Given the description of an element on the screen output the (x, y) to click on. 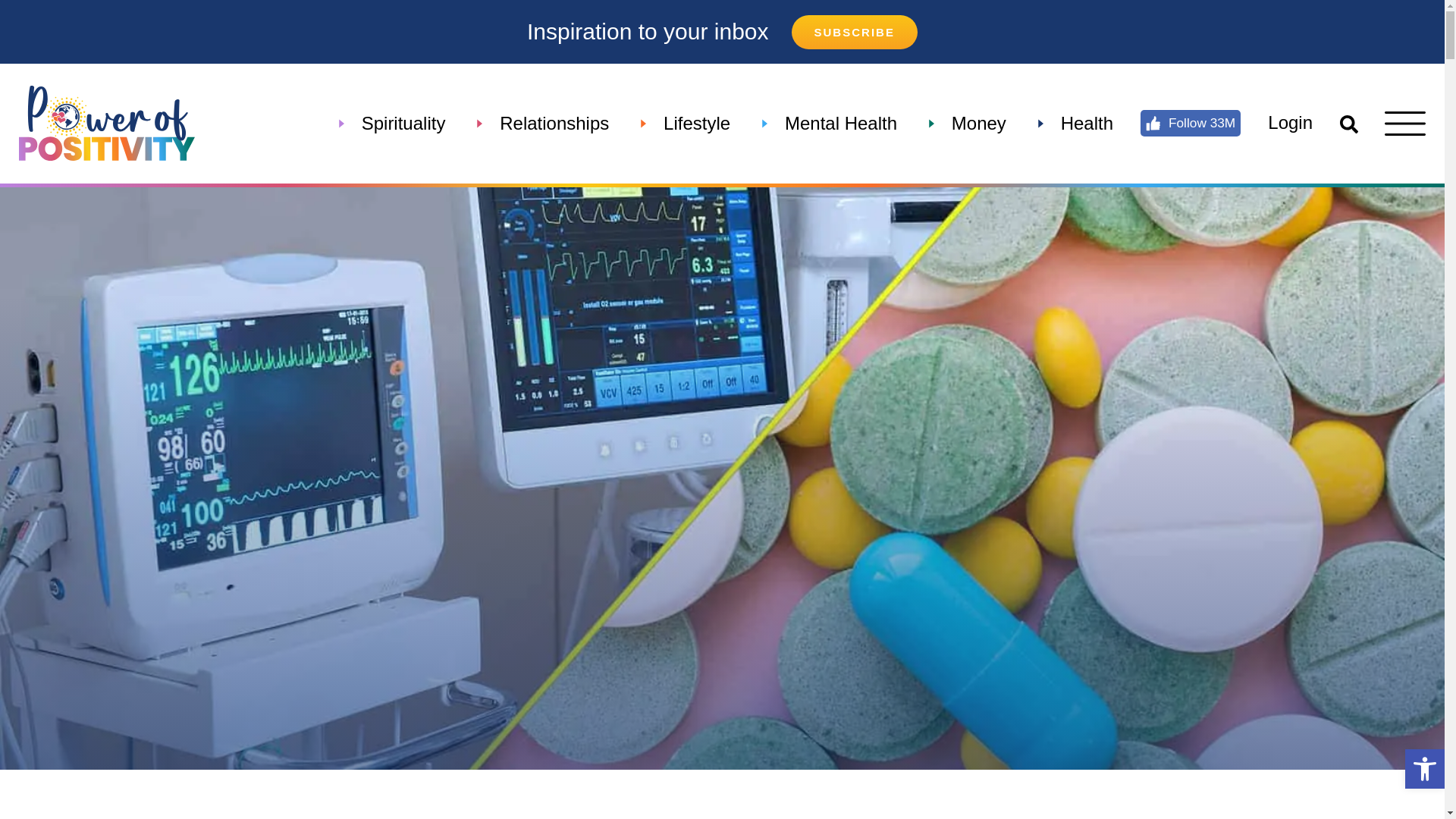
Accessibility Tools (1424, 768)
Health (1086, 123)
Mental Health (840, 123)
Money (978, 123)
Lifestyle (696, 123)
Relationships (553, 123)
Login (1290, 122)
Follow 33M (1189, 122)
Spirituality (403, 123)
SUBSCRIBE (854, 32)
